Given the description of an element on the screen output the (x, y) to click on. 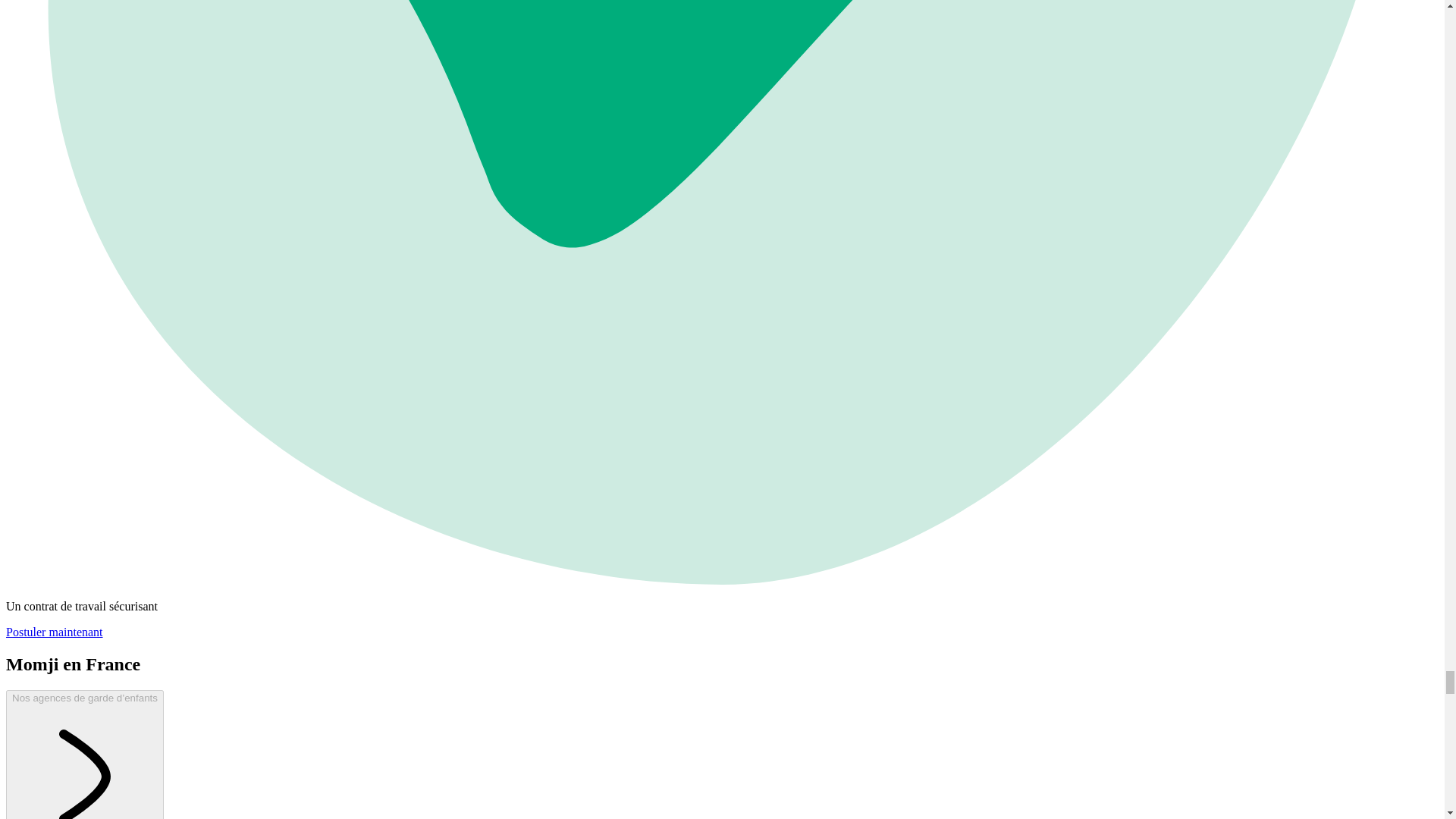
Postuler maintenant (54, 631)
